Given the description of an element on the screen output the (x, y) to click on. 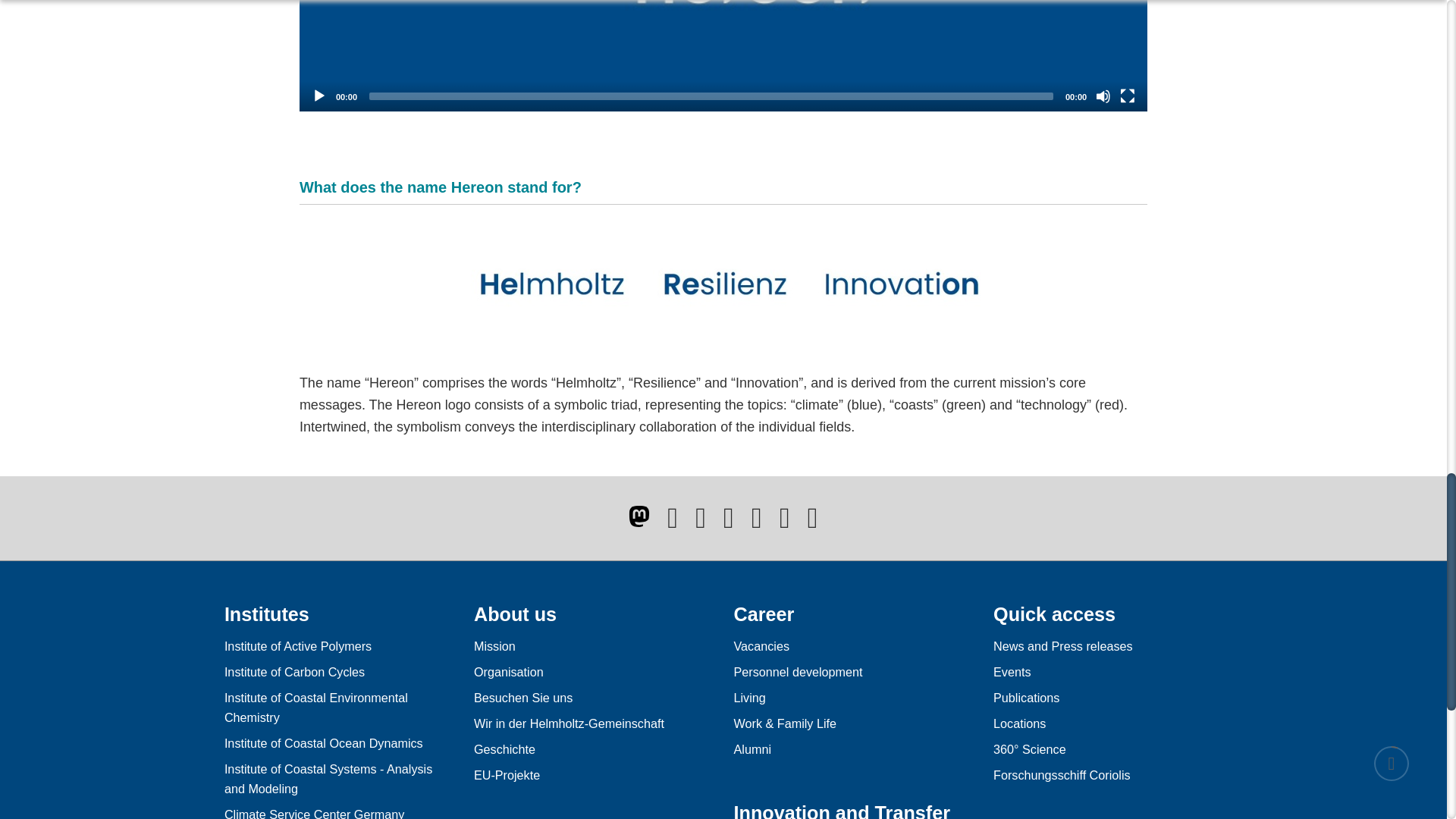
Hereon at Mastodon (638, 515)
Mute (1103, 96)
Fullscreen (1127, 96)
Play (318, 96)
